Given the description of an element on the screen output the (x, y) to click on. 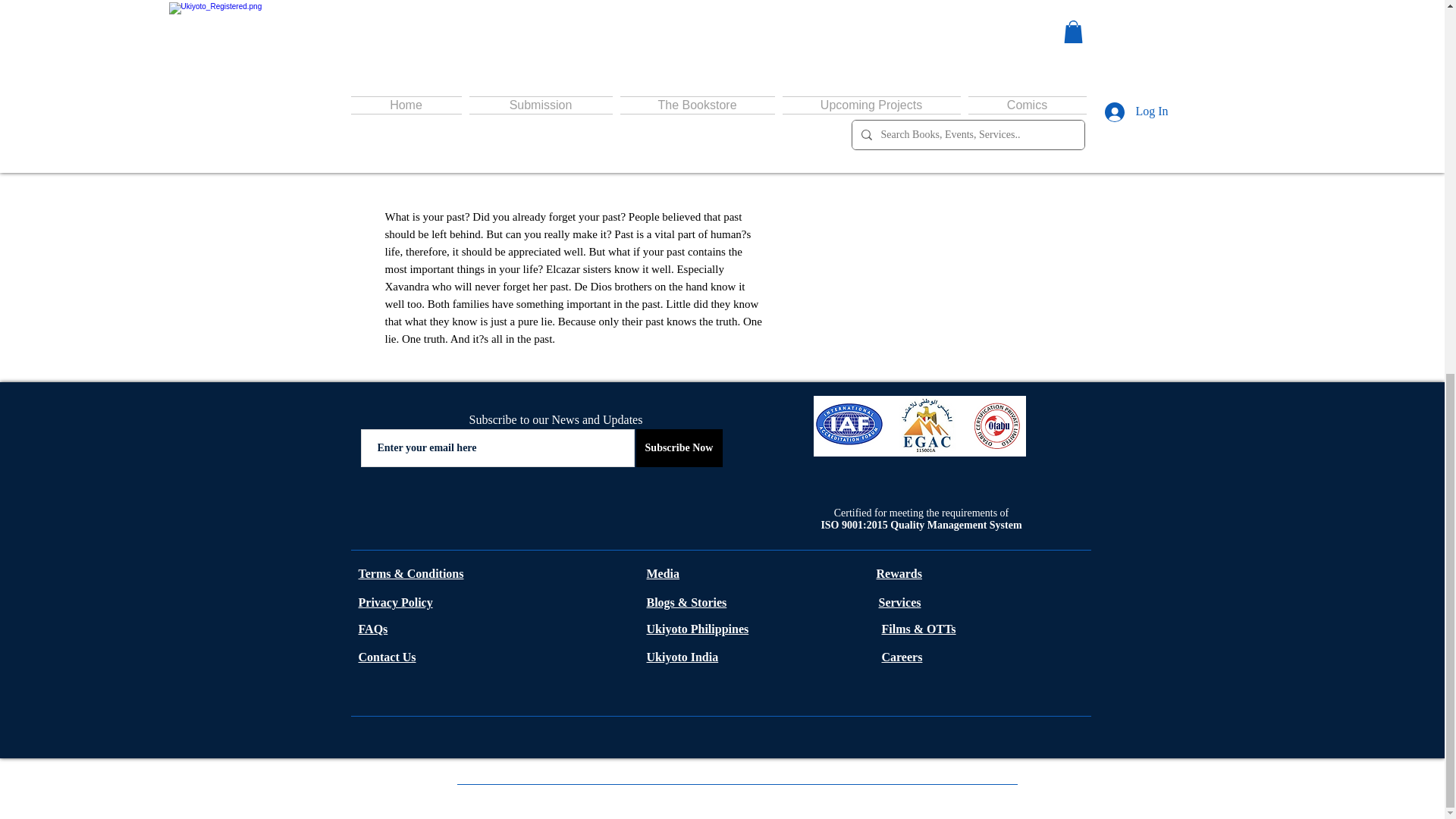
Media (662, 573)
Ukiyoto India (681, 656)
Privacy Policy (395, 602)
Careers (900, 656)
Subscribe Now (678, 447)
Contact Us (386, 656)
FAQs (372, 628)
Rewards (898, 573)
Ukiyoto Philippines (697, 628)
Services (898, 602)
Language (924, 21)
